Given the description of an element on the screen output the (x, y) to click on. 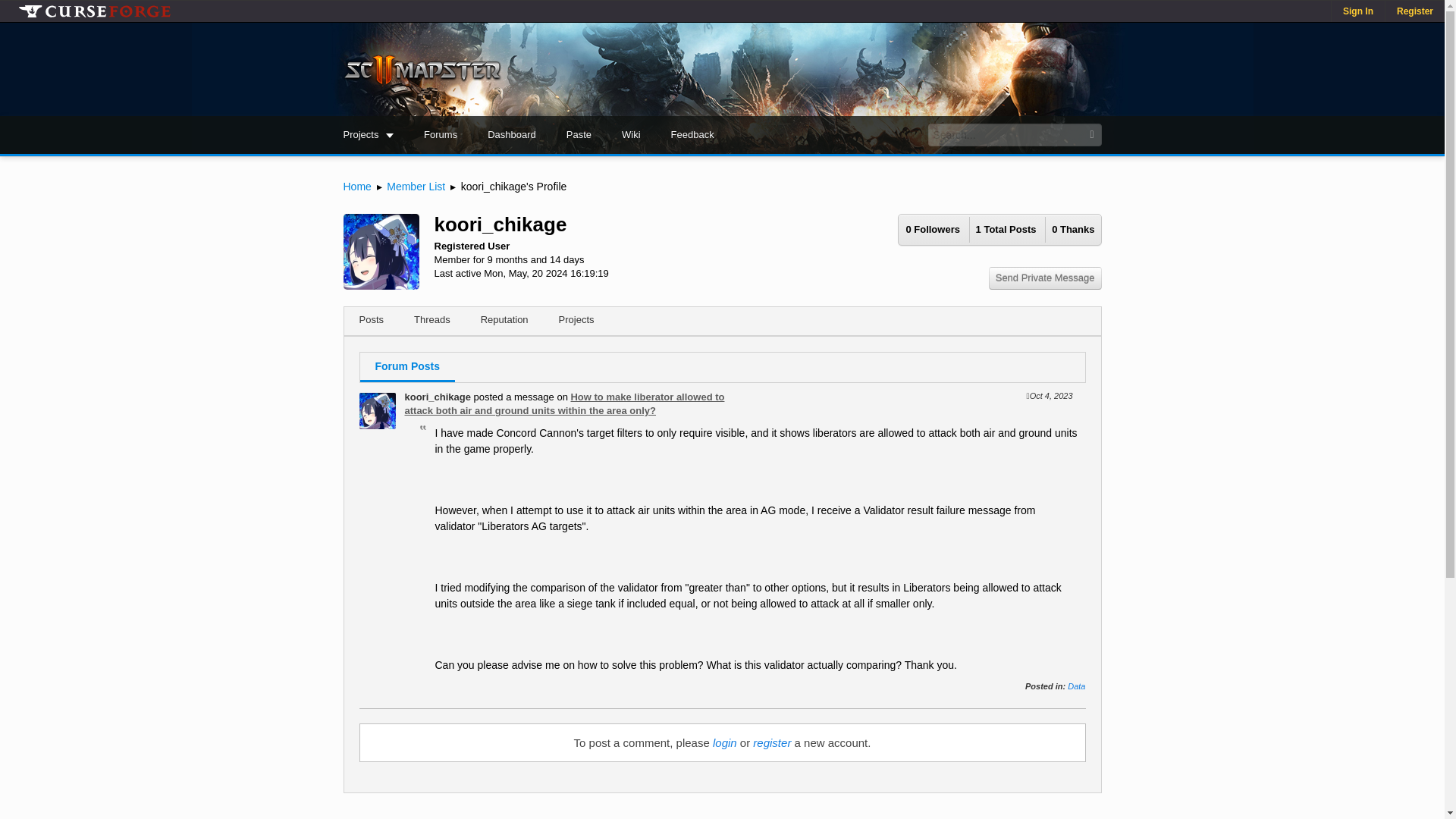
Wiki (631, 134)
register (771, 742)
Forum Posts (406, 367)
Data (1075, 686)
Projects (576, 321)
Dashboard (511, 134)
Member List (416, 186)
Projects (368, 134)
Feedback (692, 134)
Forum Posts (721, 374)
CurseForge (94, 11)
Threads (431, 321)
Reputation (504, 321)
Sign In (1357, 11)
